Given the description of an element on the screen output the (x, y) to click on. 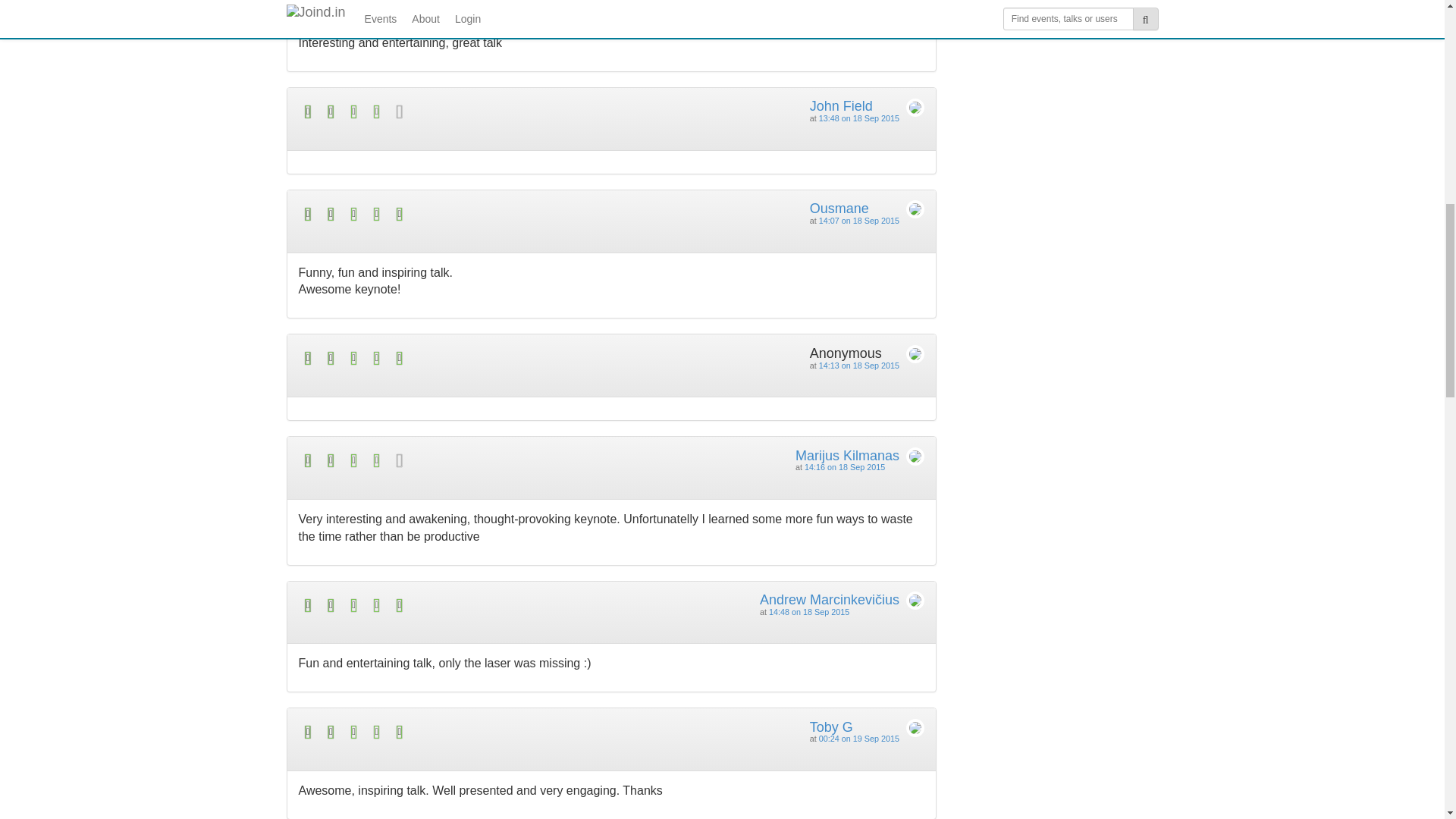
Rated 4 (454, 111)
14:48 on 18 Sep 2015 (808, 611)
Toby G (831, 726)
Marijus Kilmanas (846, 454)
14:16 on 18 Sep 2015 (845, 466)
John Field (840, 105)
Rated 5 (454, 213)
Rated 5 (454, 605)
00:24 on 19 Sep 2015 (858, 737)
Rated 5 (454, 357)
